Given the description of an element on the screen output the (x, y) to click on. 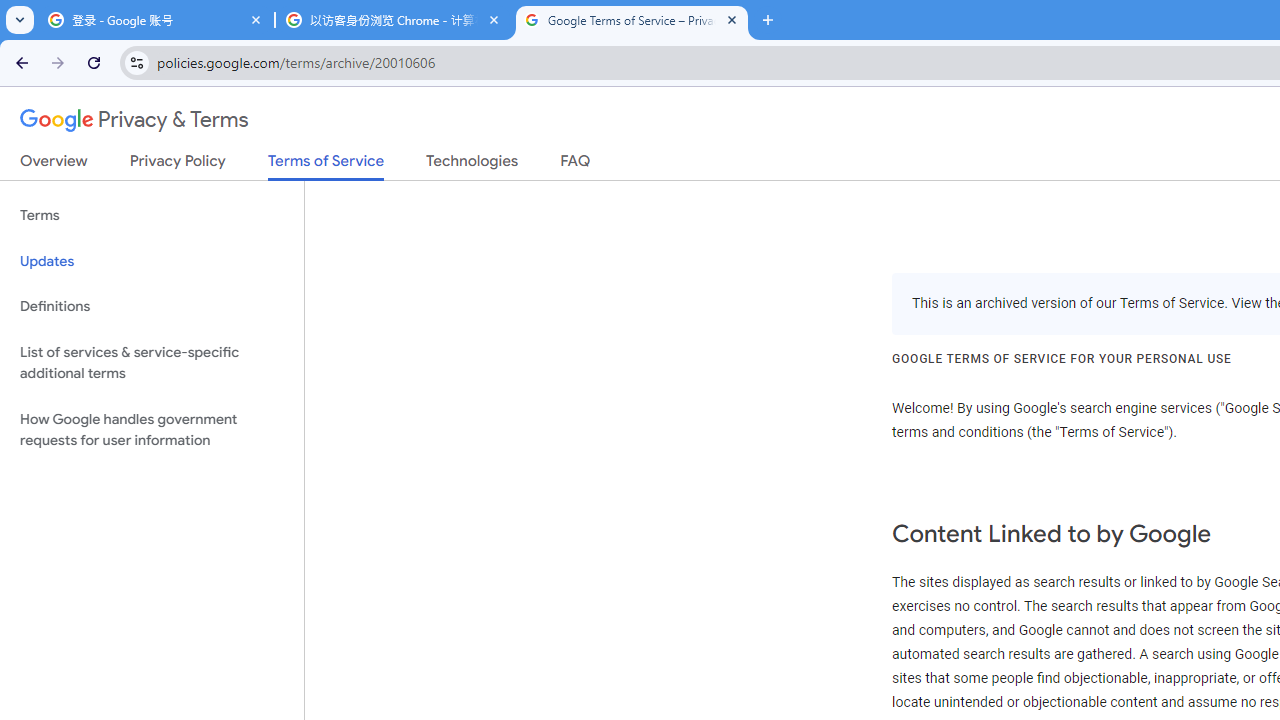
How Google handles government requests for user information (152, 429)
